Given the description of an element on the screen output the (x, y) to click on. 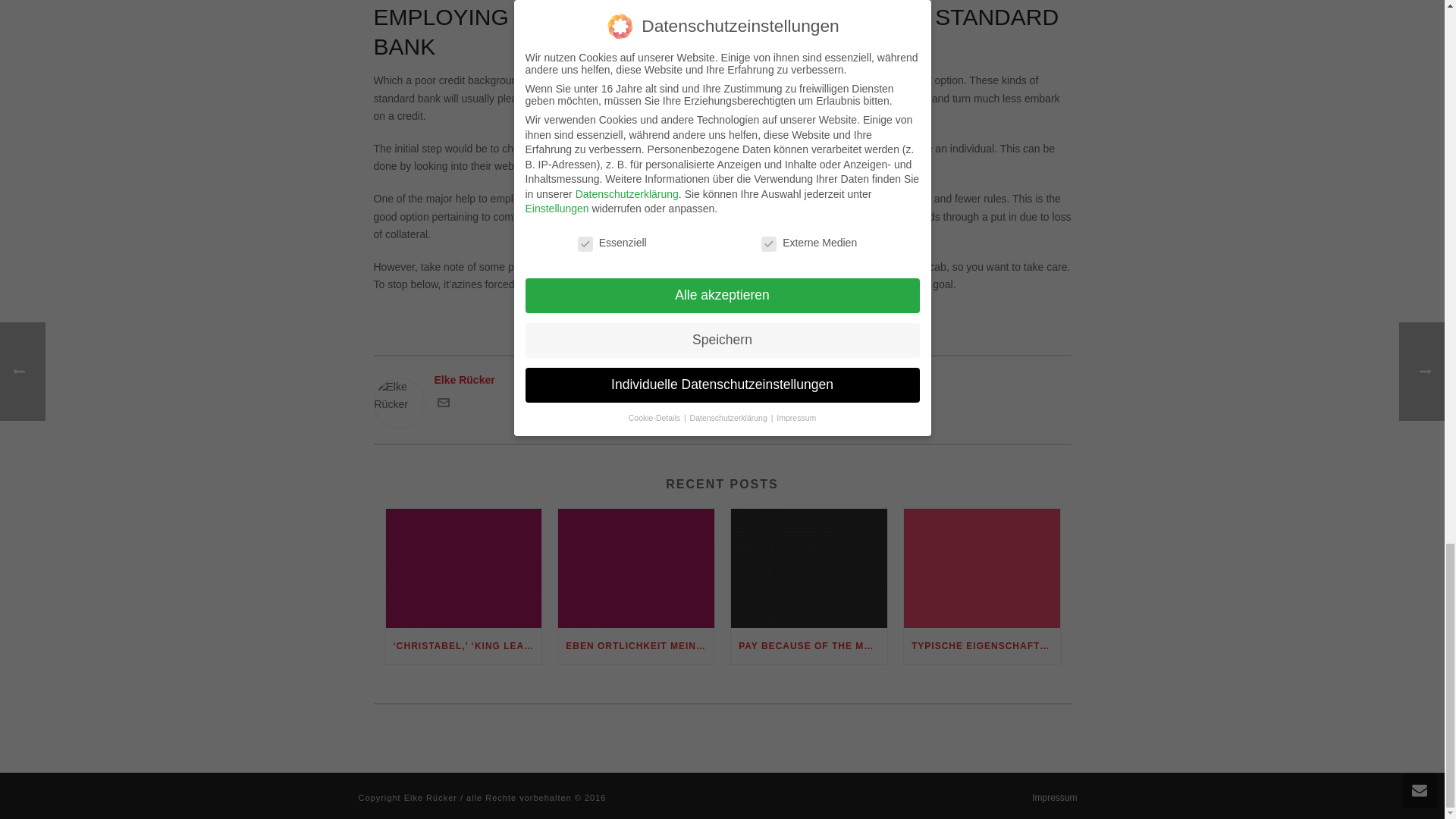
Impressum (1054, 797)
Get in touch with me via email (442, 404)
